Given the description of an element on the screen output the (x, y) to click on. 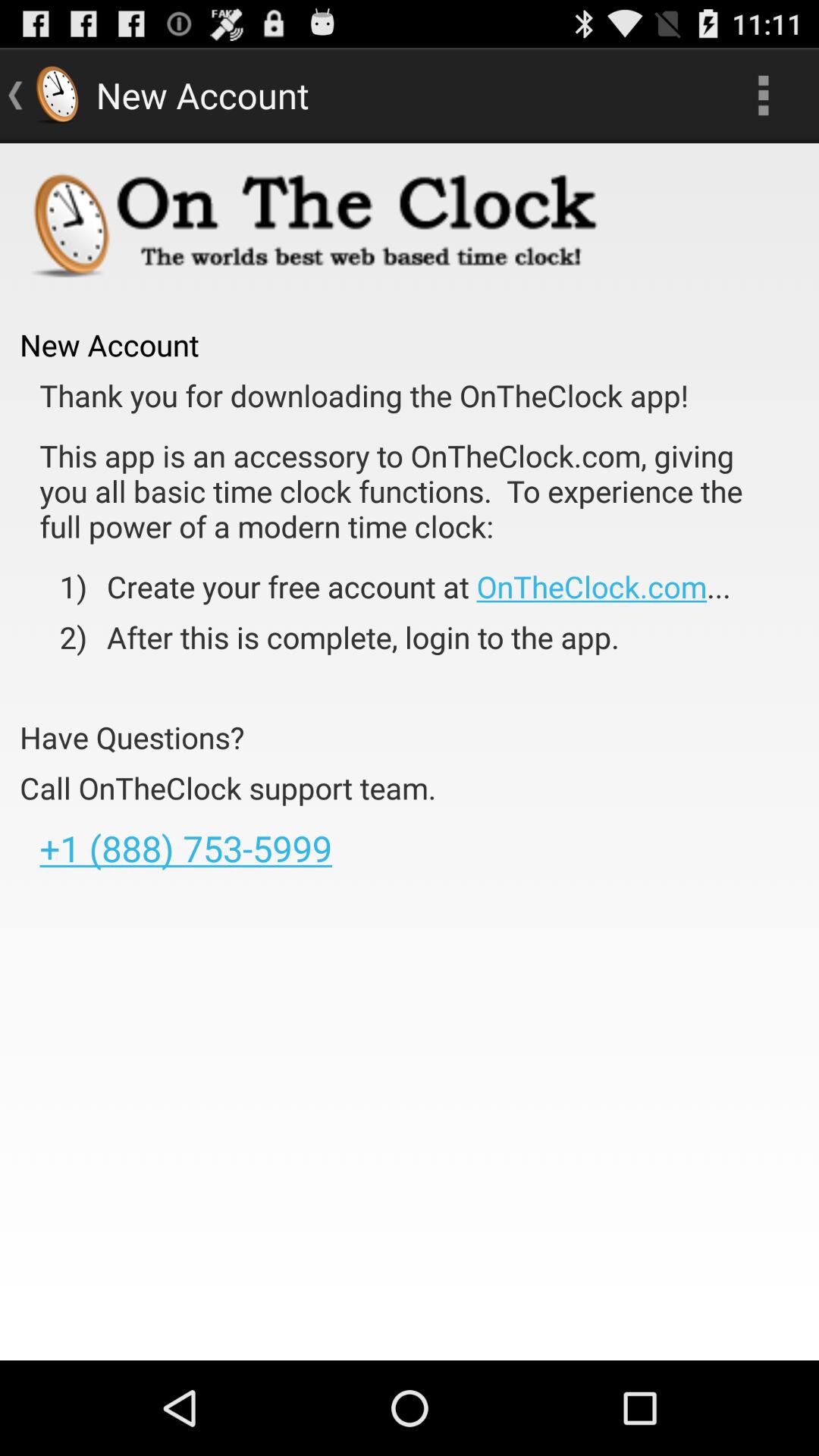
swipe until the call ontheclock support (227, 787)
